Given the description of an element on the screen output the (x, y) to click on. 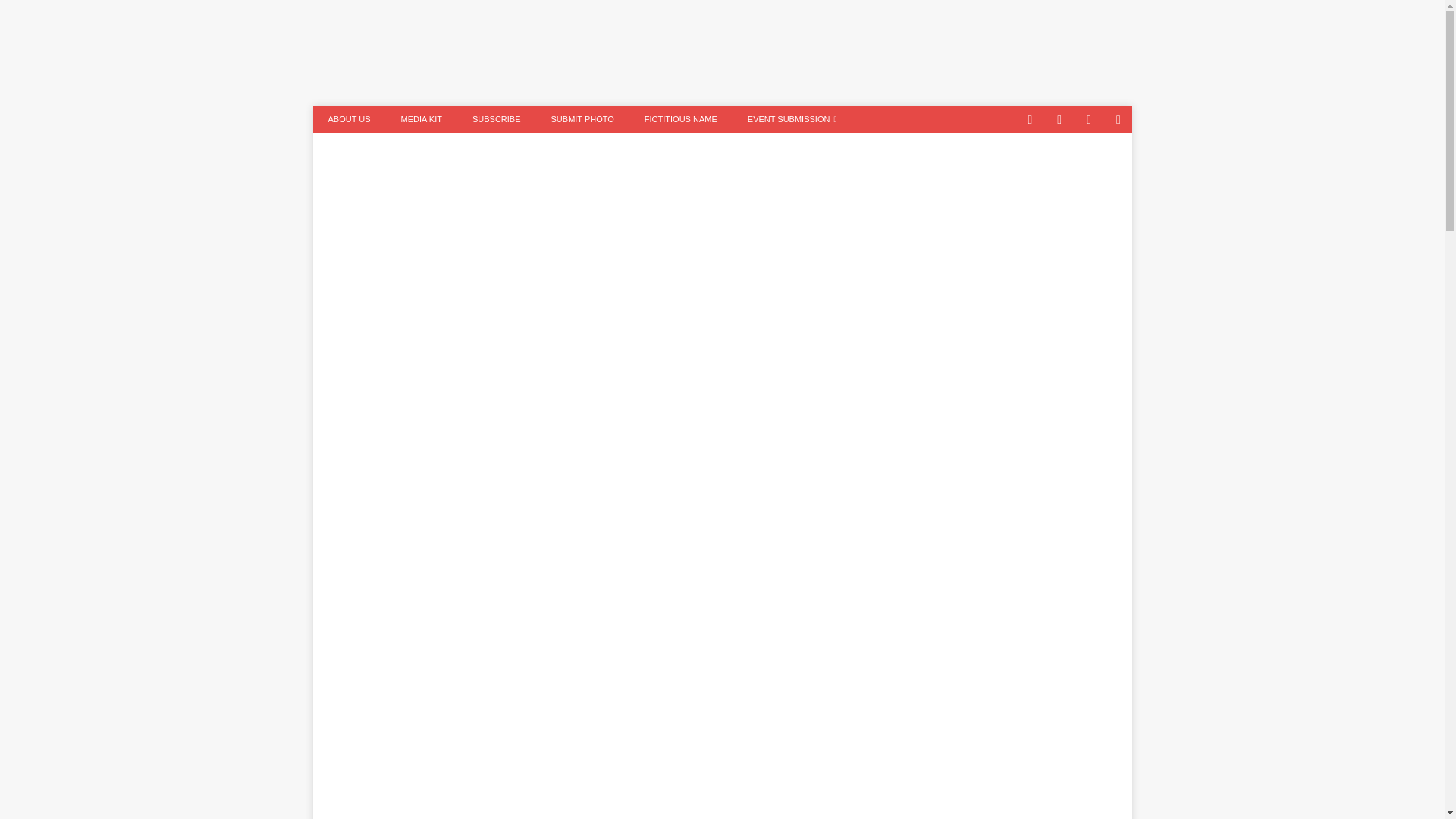
SUBMIT PHOTO (581, 119)
contact (1029, 119)
EVENT SUBMISSION (791, 119)
twitter (1059, 119)
SUBSCRIBE (496, 119)
MEDIA KIT (421, 119)
ABOUT US (349, 119)
rss (1118, 119)
FICTITIOUS NAME (680, 119)
Facebook (1088, 119)
